Given the description of an element on the screen output the (x, y) to click on. 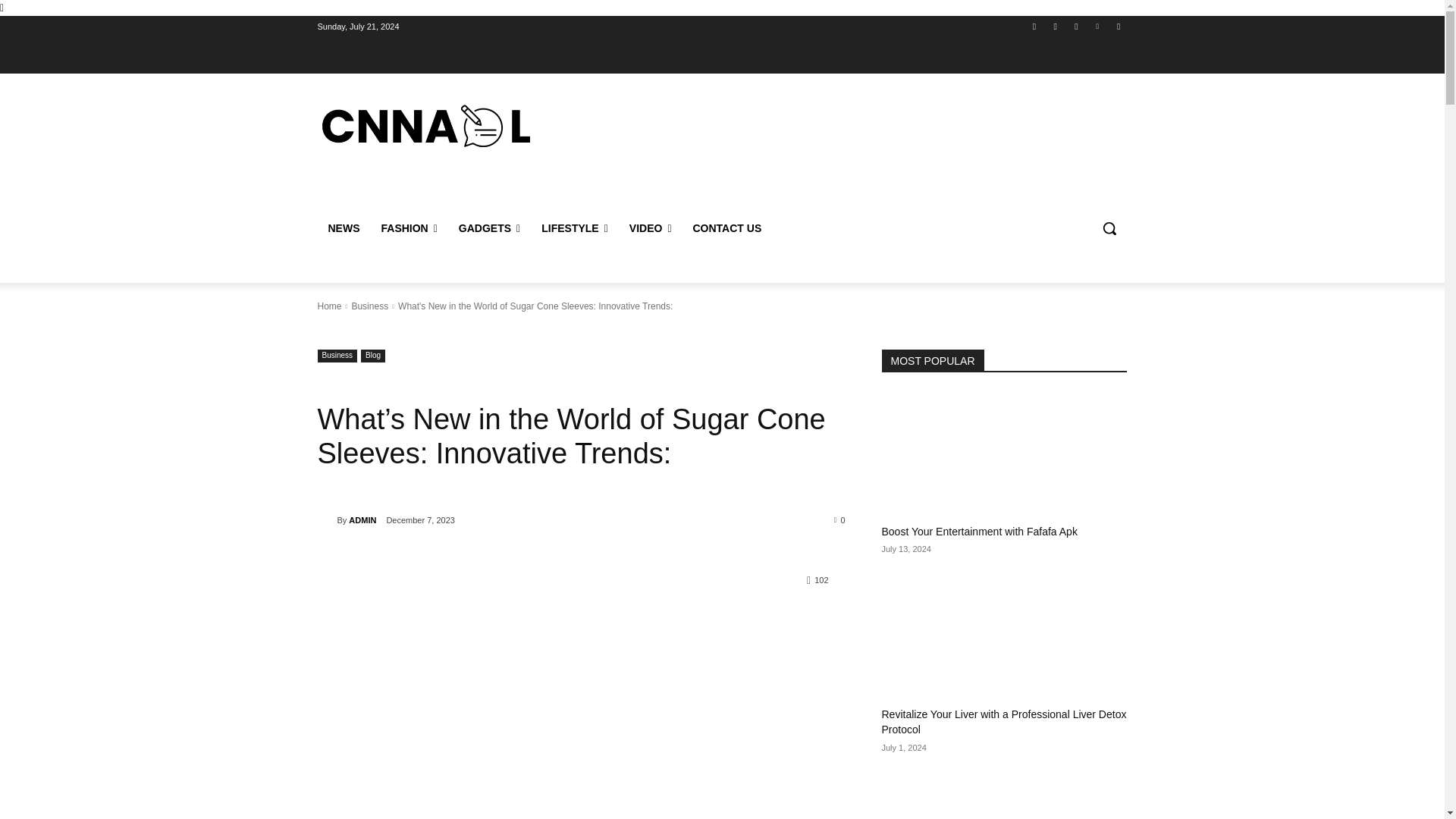
FASHION (407, 227)
GADGETS (489, 227)
Youtube (1117, 27)
Twitter (1075, 27)
Facebook (1034, 27)
Instagram (1055, 27)
Vimeo (1097, 27)
NEWS (343, 227)
